Given the description of an element on the screen output the (x, y) to click on. 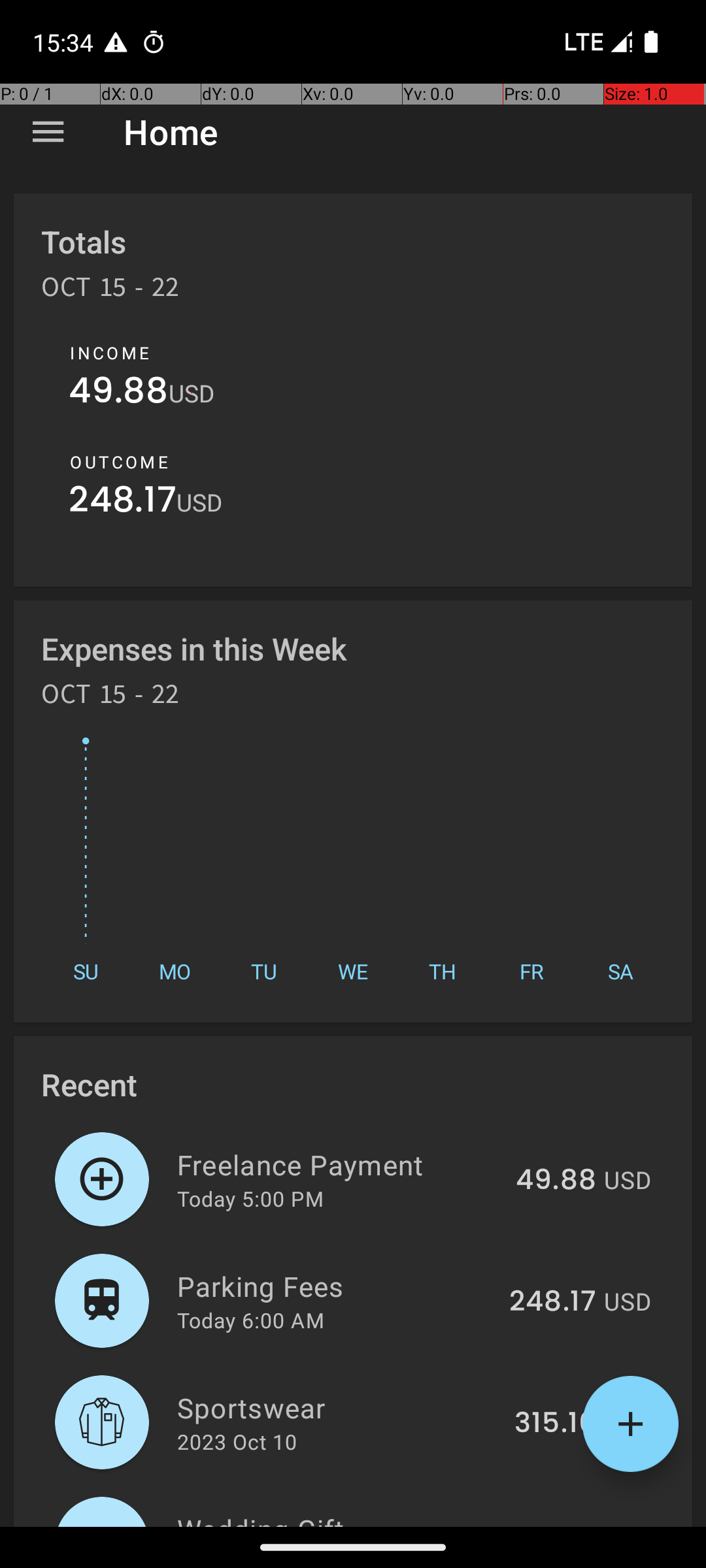
49.88 Element type: android.widget.TextView (118, 393)
248.17 Element type: android.widget.TextView (122, 502)
Freelance Payment Element type: android.widget.TextView (338, 1164)
Today 5:00 PM Element type: android.widget.TextView (250, 1198)
Parking Fees Element type: android.widget.TextView (335, 1285)
Today 6:00 AM Element type: android.widget.TextView (250, 1320)
Sportswear Element type: android.widget.TextView (338, 1407)
2023 Oct 10 Element type: android.widget.TextView (236, 1441)
315.16 Element type: android.widget.TextView (554, 1423)
Wedding Gift Element type: android.widget.TextView (330, 1518)
446.28 Element type: android.widget.TextView (547, 1524)
